Given the description of an element on the screen output the (x, y) to click on. 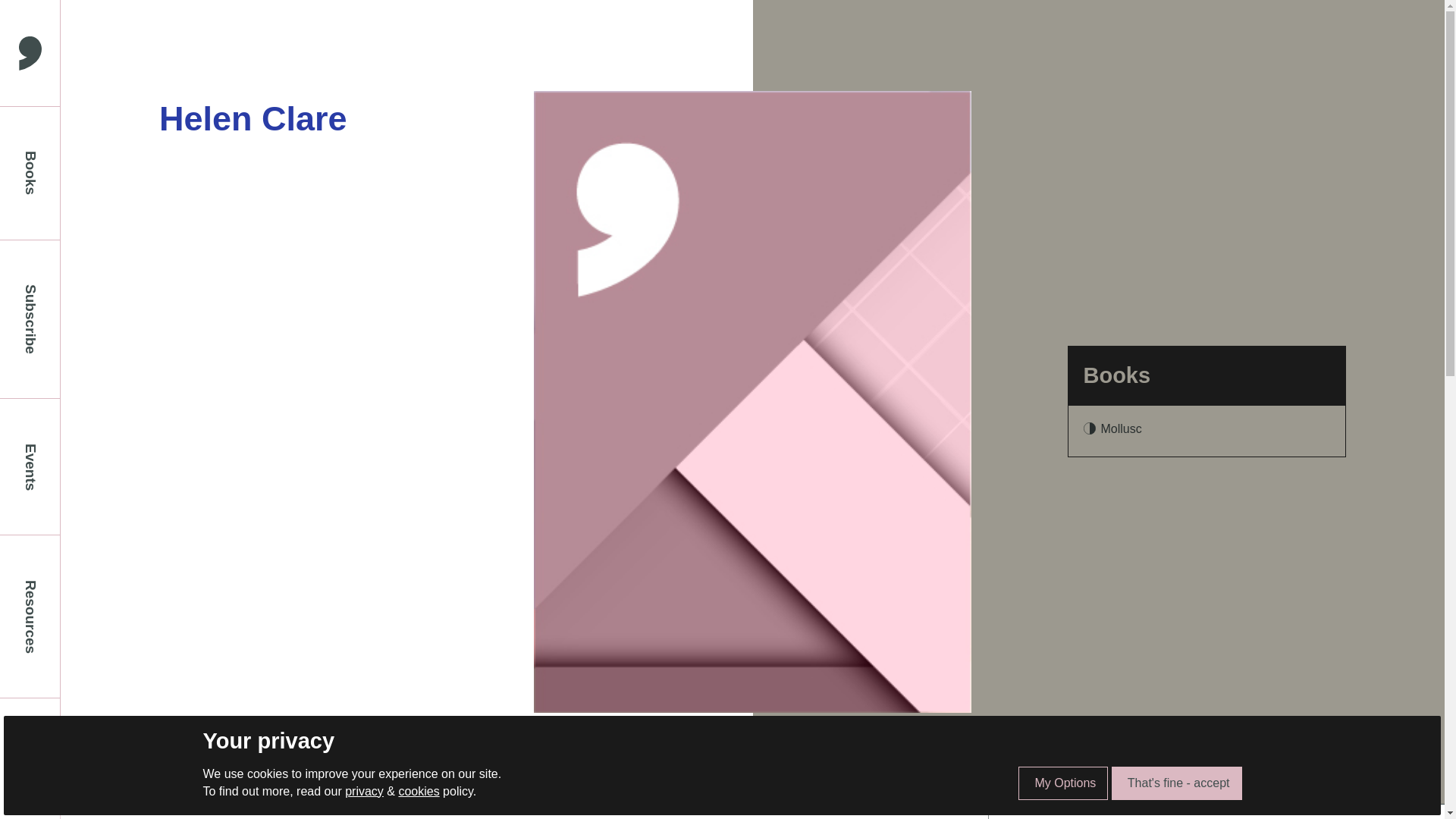
Mollusc (1120, 428)
Comma Press (30, 53)
Blog (29, 758)
Resources (29, 616)
Press to skip to main content (11, 11)
That's fine - accept (1176, 783)
Events (29, 466)
cookies (418, 790)
Books (29, 173)
My Options (1062, 783)
Subscribe (29, 319)
privacy (364, 790)
